Given the description of an element on the screen output the (x, y) to click on. 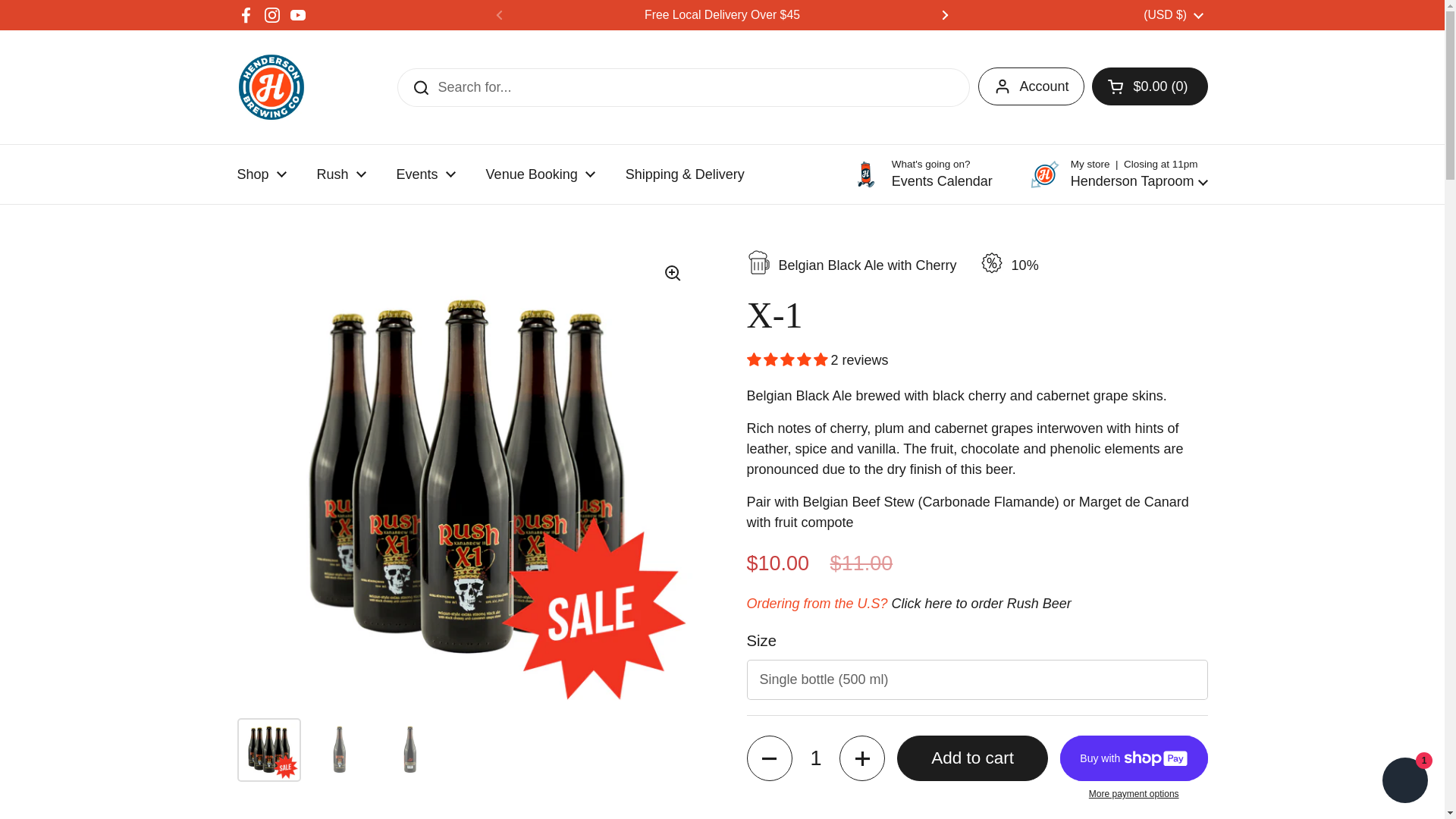
1 (815, 758)
Open cart (1149, 85)
Instagram (271, 14)
Shop (261, 174)
YouTube (296, 14)
Shopify online store chat (1404, 781)
Henderson Brewing Company (269, 87)
Facebook (244, 14)
Account (1031, 85)
Rush (341, 174)
